Given the description of an element on the screen output the (x, y) to click on. 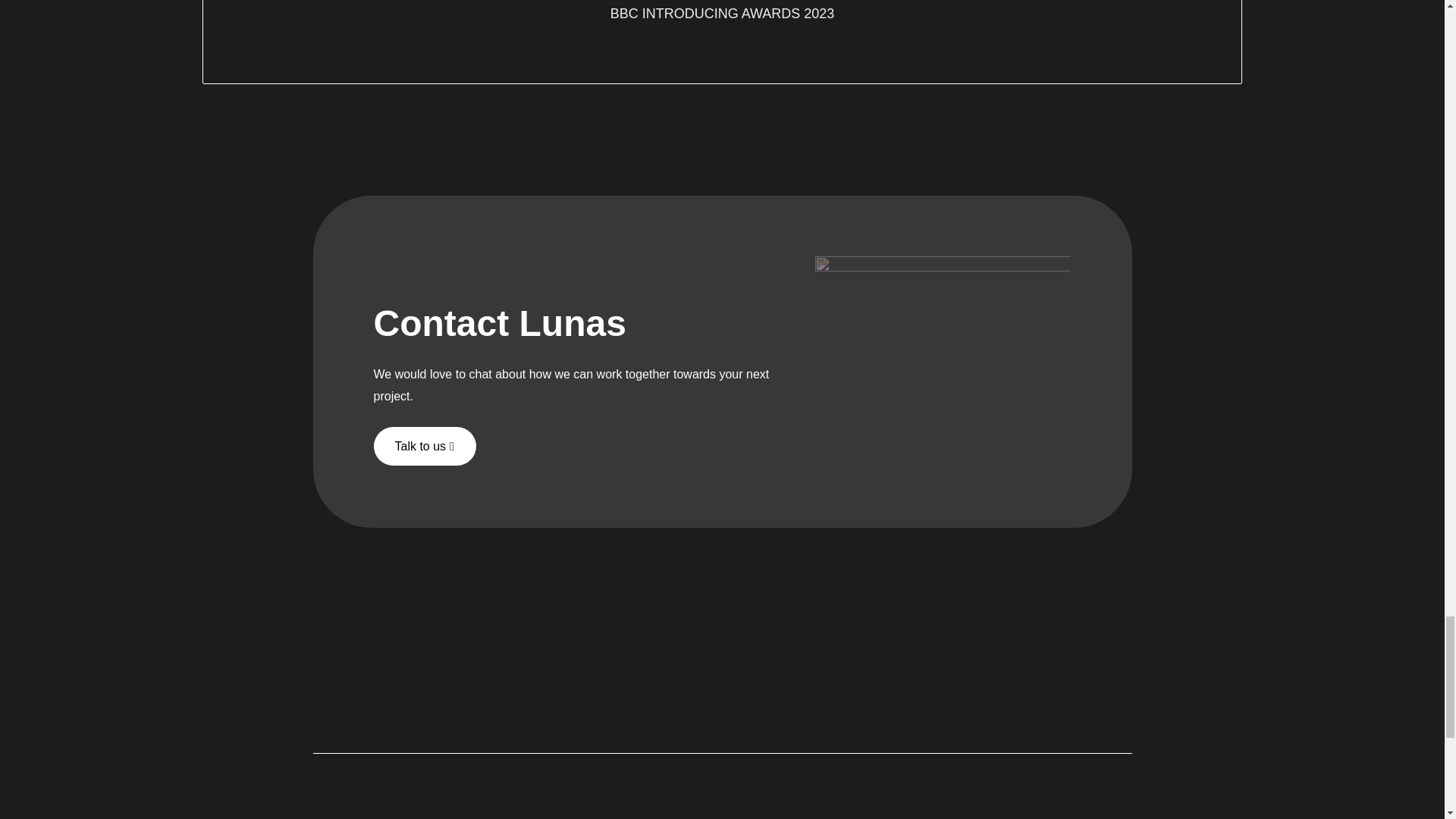
BBC Introducing Awards 2023 (722, 13)
BBC INTRODUCING AWARDS 2023 (722, 13)
Talk to us (424, 446)
